Given the description of an element on the screen output the (x, y) to click on. 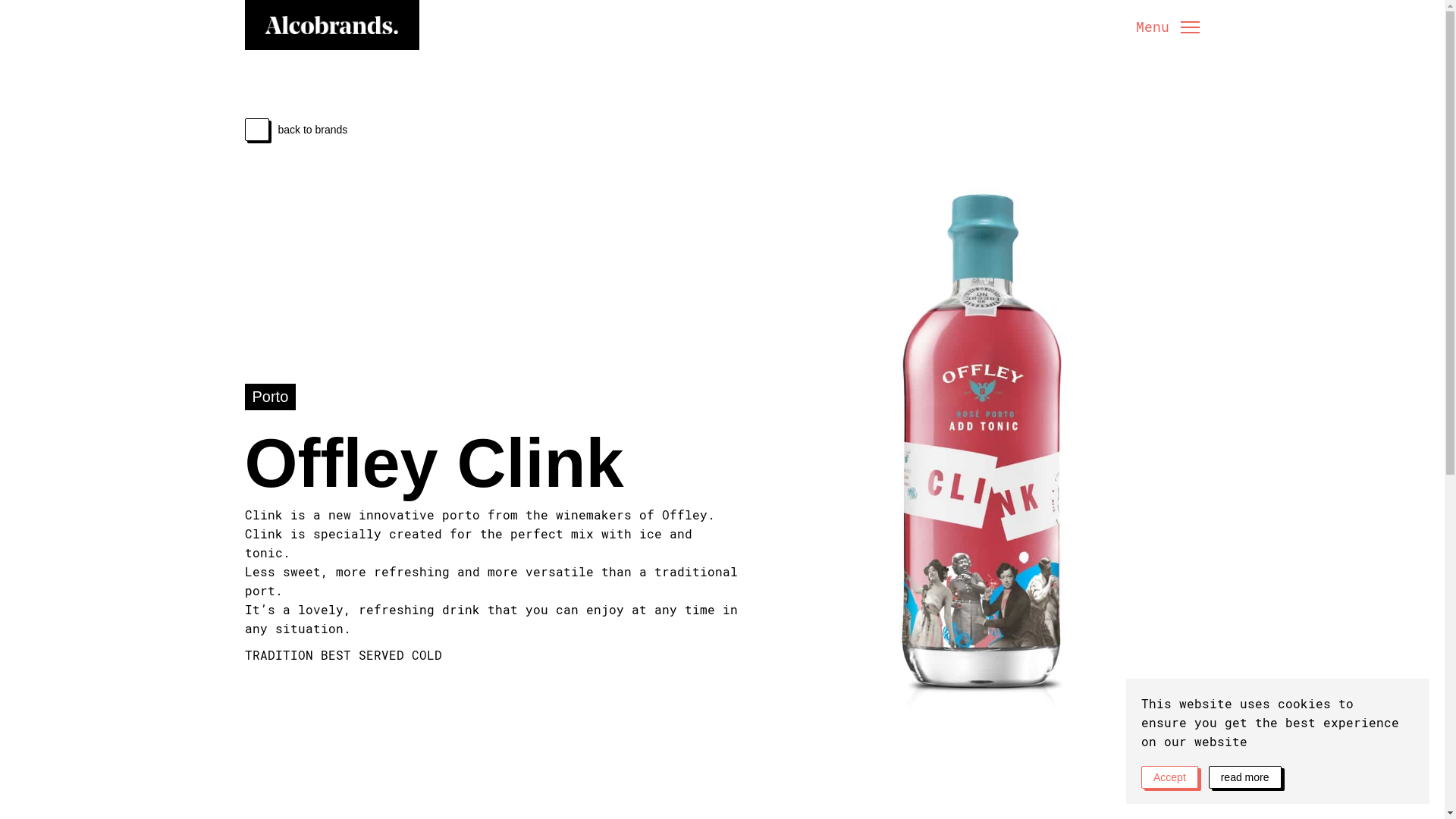
read more Element type: text (1244, 776)
Menu Element type: text (1167, 26)
back to brands Element type: text (499, 129)
